Given the description of an element on the screen output the (x, y) to click on. 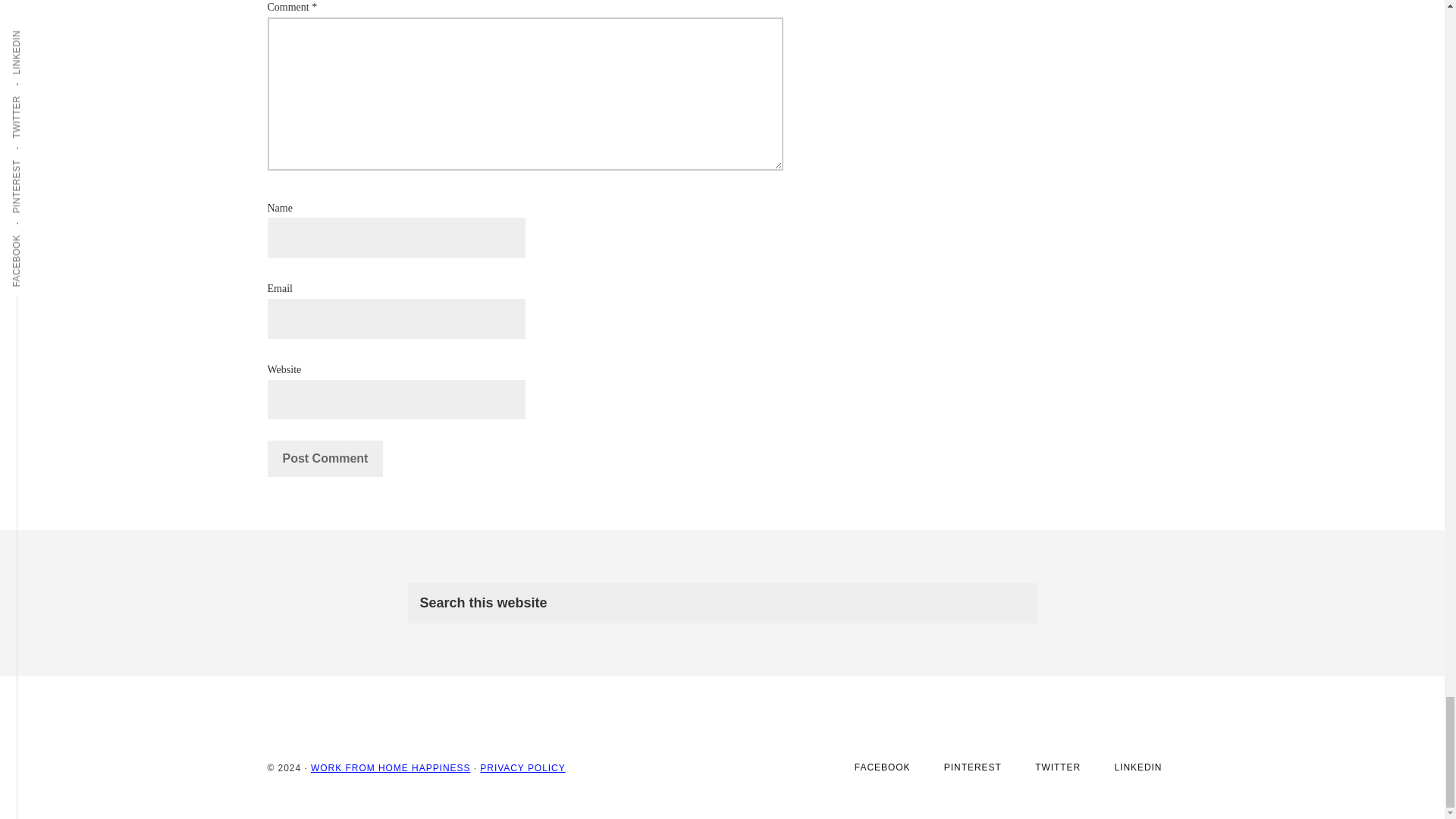
Post Comment (324, 458)
Privacy Policy (522, 767)
